Given the description of an element on the screen output the (x, y) to click on. 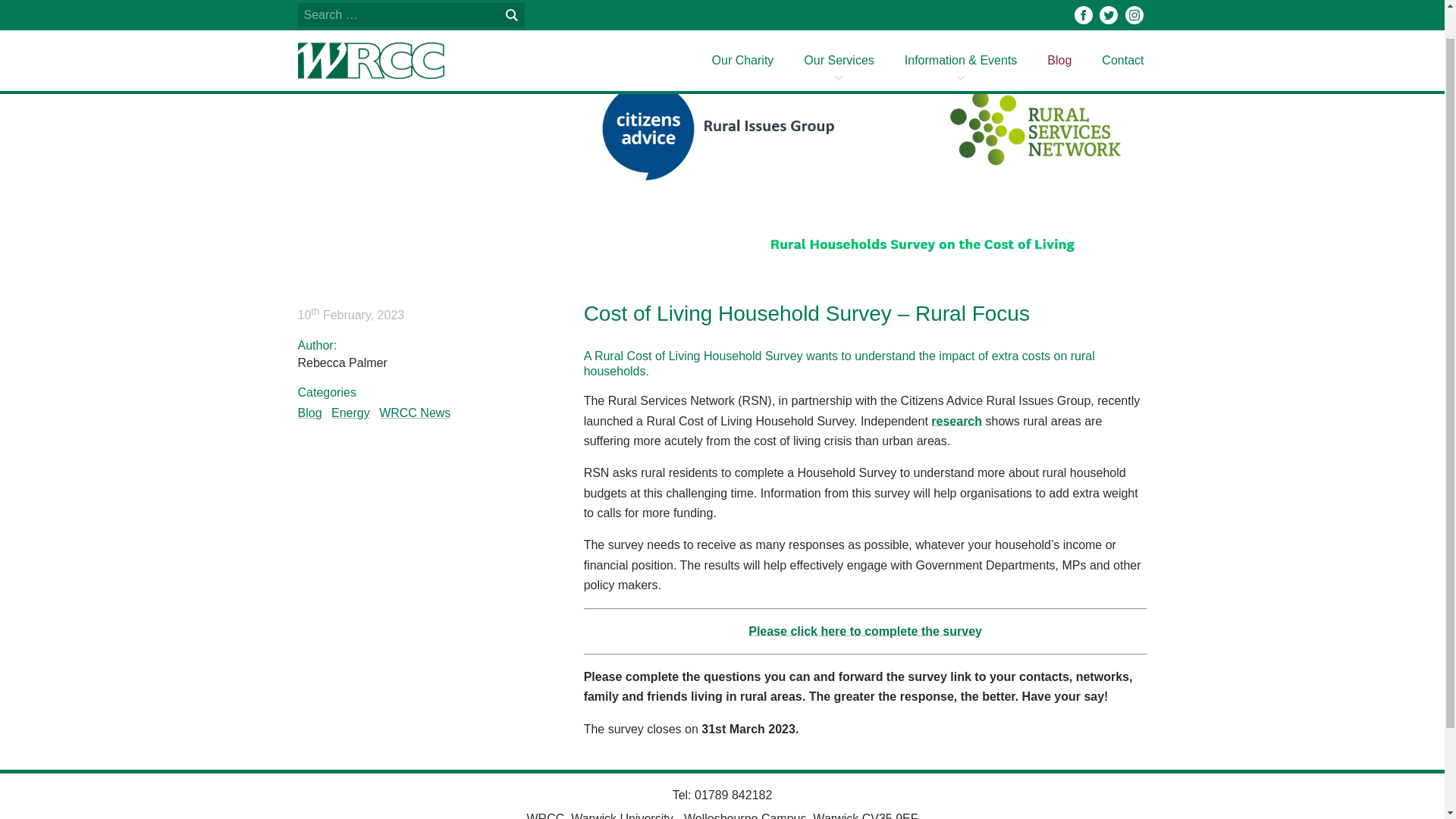
Blog (1059, 28)
research (956, 420)
Energy (350, 412)
01789 842182 (732, 794)
Our Charity (743, 28)
Contact (1122, 28)
Please click here to complete the survey (864, 631)
Our Services (838, 28)
Blog (309, 412)
WRCC News (413, 412)
